Given the description of an element on the screen output the (x, y) to click on. 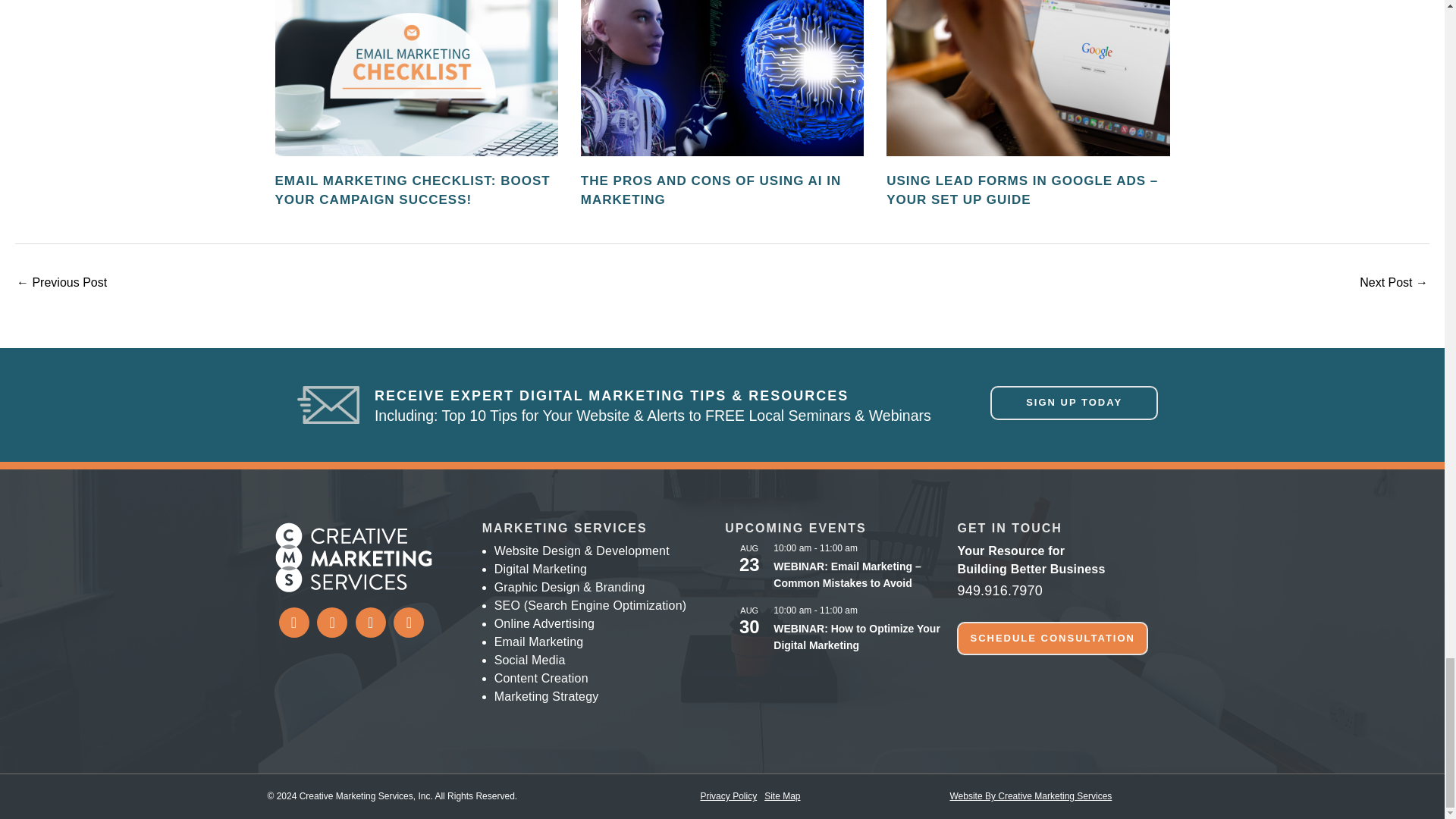
5 Tips to Use LinkedIn to Grow Your Business (61, 284)
WEBINAR: How to Optimize Your Digital Marketing (856, 636)
5 WAYS TO KICK START YOUR DIGITAL MARKETING FOR 2022 (1393, 284)
